Given the description of an element on the screen output the (x, y) to click on. 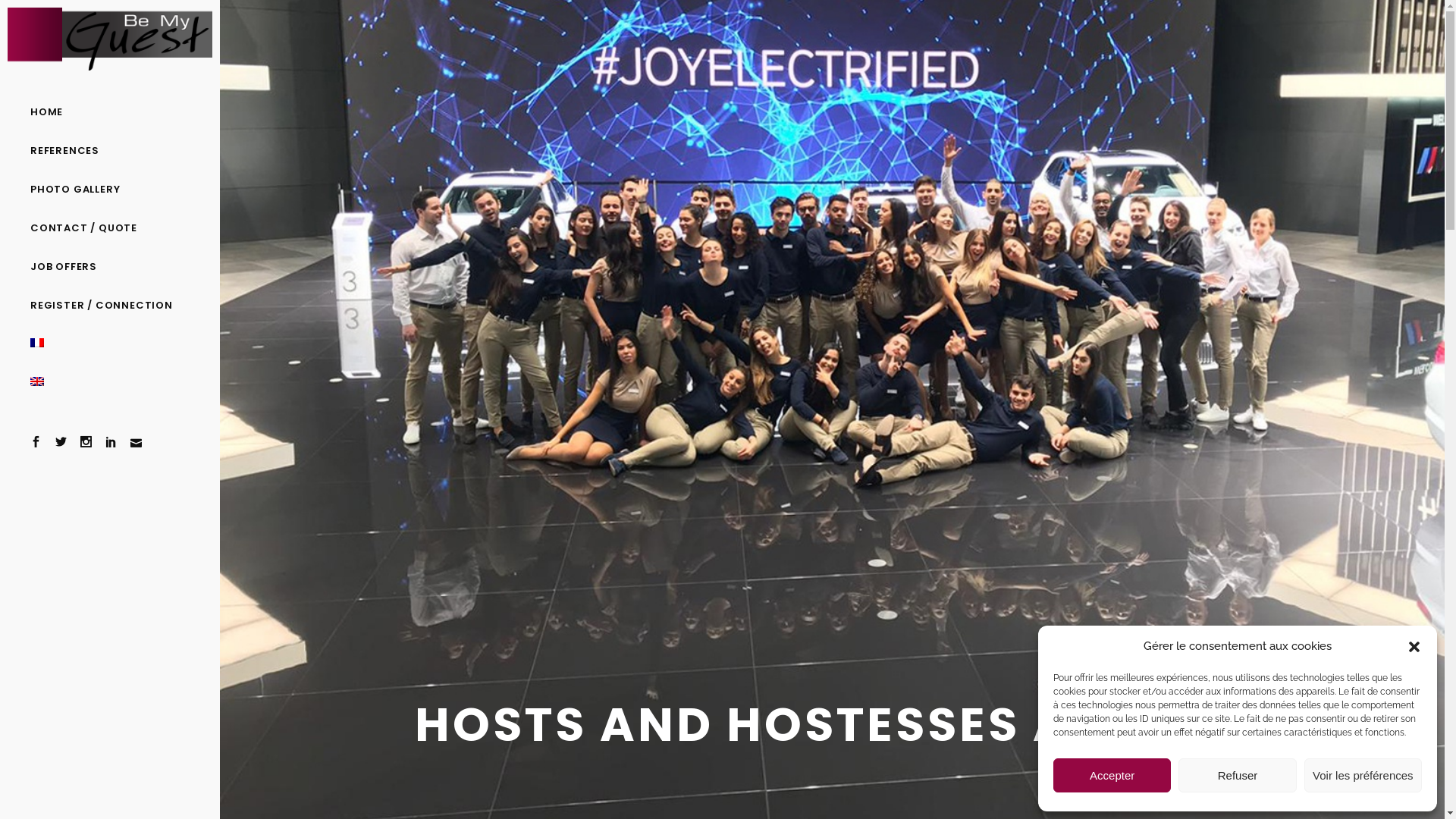
JOB OFFERS Element type: text (109, 266)
PHOTO GALLERY Element type: text (109, 188)
Refuser Element type: text (1236, 775)
REGISTER / CONNECTION Element type: text (109, 304)
HOME Element type: text (109, 111)
CONTACT / QUOTE Element type: text (109, 227)
REFERENCES Element type: text (109, 150)
Accepter Element type: text (1111, 775)
